Given the description of an element on the screen output the (x, y) to click on. 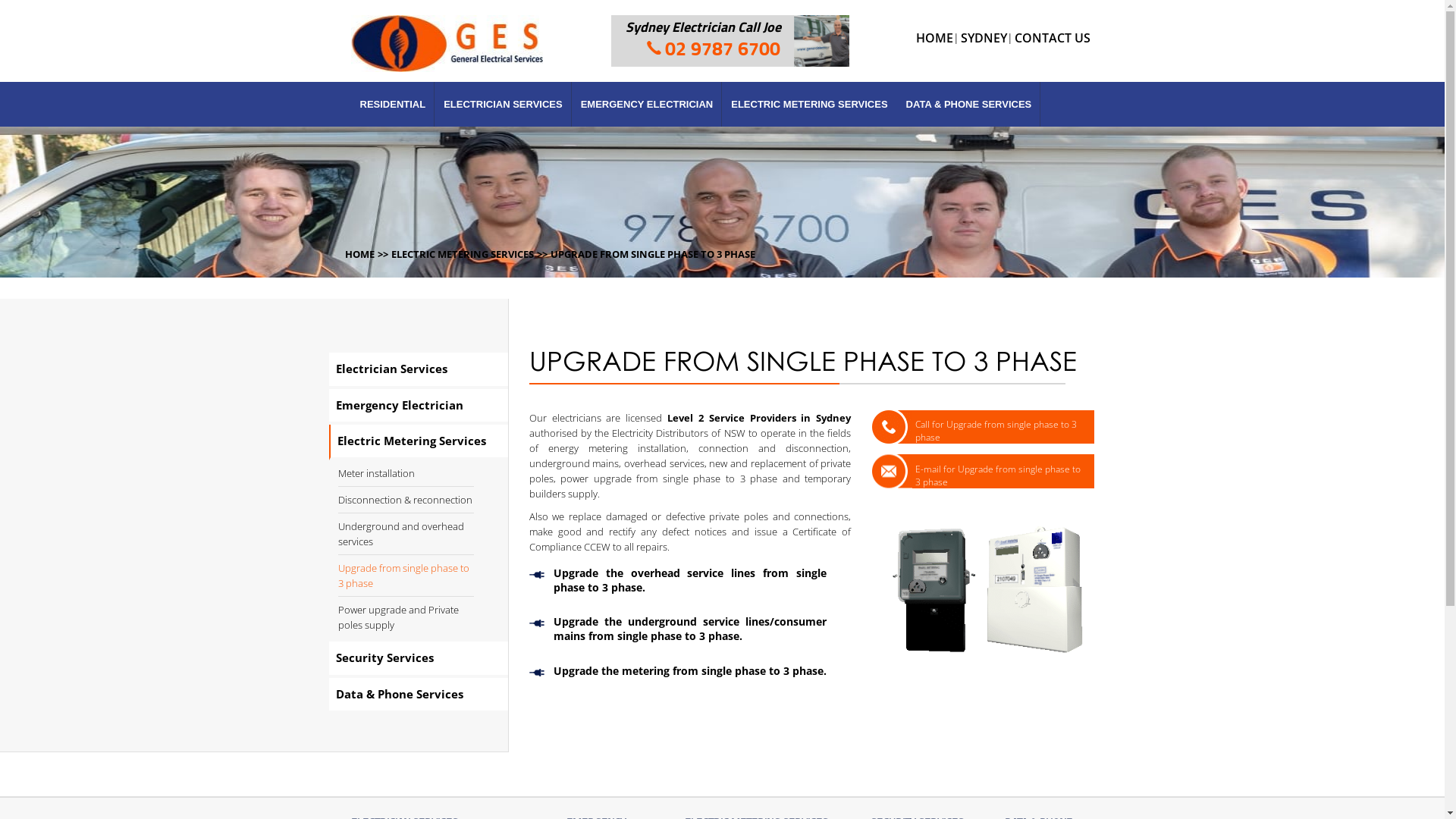
EMERGENCY ELECTRICIAN Element type: text (646, 103)
Upgrade from single phase to 3 phase Element type: text (403, 575)
CONTACT US Element type: text (1052, 37)
ELECTRIC METERING SERVICES Element type: text (809, 103)
ELECTRIC METERING SERVICES Element type: text (462, 253)
Data & Phone Services Element type: text (418, 695)
HOME Element type: text (934, 37)
DATA & PHONE SERVICES Element type: text (969, 103)
RESIDENTIAL Element type: text (392, 103)
Call for Upgrade from single phase to 3 phase Element type: text (981, 426)
Electrician Services Element type: text (418, 370)
SYDNEY Element type: text (983, 37)
02 9787 6700 Element type: text (713, 47)
E-mail for Upgrade from single phase to 3 phase Element type: text (981, 471)
Security Services Element type: text (418, 659)
Underground and overhead services Element type: text (401, 533)
Emergency Electrician Element type: text (418, 406)
Power upgrade and Private poles supply Element type: text (398, 616)
Disconnection & reconnection Element type: text (405, 499)
HOME Element type: text (358, 253)
Meter installation Element type: text (376, 473)
ELECTRICIAN SERVICES Element type: text (502, 103)
Electric Metering Services Element type: text (418, 442)
